Given the description of an element on the screen output the (x, y) to click on. 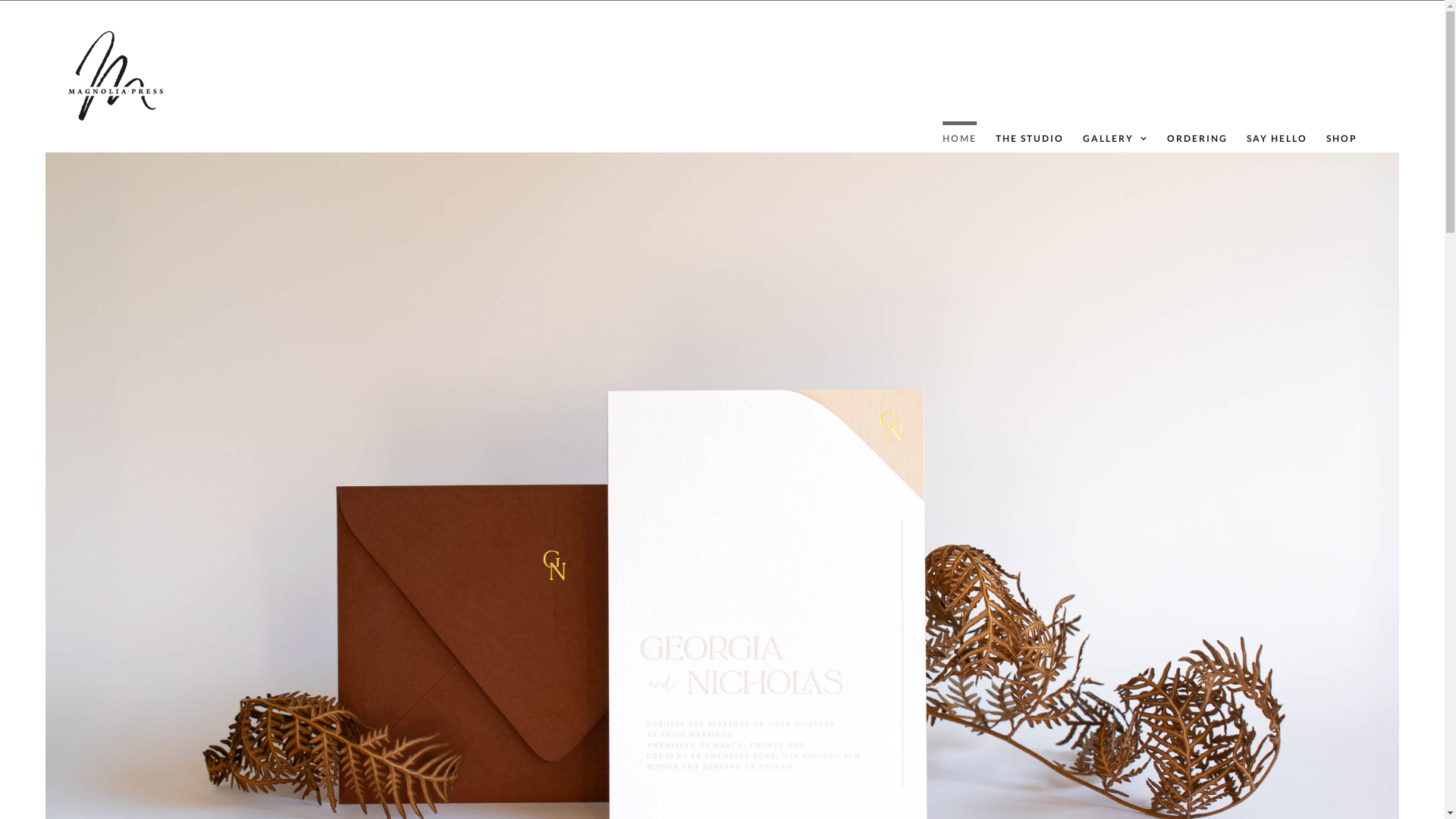
SHOP Element type: text (1341, 136)
ORDERING Element type: text (1197, 136)
SAY HELLO Element type: text (1276, 136)
GALLERY Element type: text (1115, 136)
HOME Element type: text (959, 136)
THE STUDIO Element type: text (1029, 136)
